Given the description of an element on the screen output the (x, y) to click on. 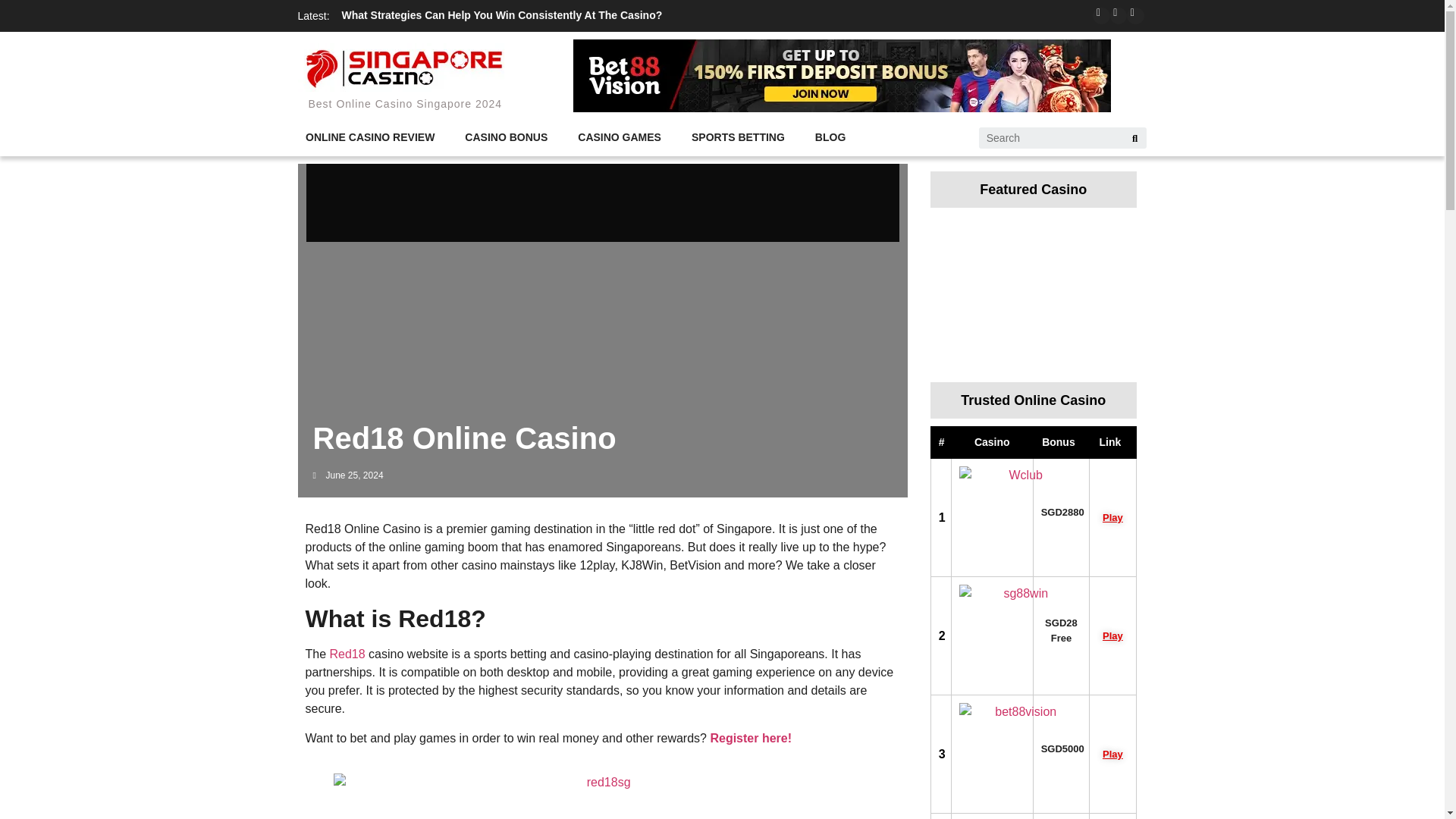
Search (1050, 137)
BetVision88: A Comprehensive Review Of Top Casino Games (495, 15)
What Strategies Can Help You Win Consistently At The Casino? (598, 39)
What Strategies Can Help You Win Consistently At The Casino? (598, 15)
Search (1134, 137)
